Given the description of an element on the screen output the (x, y) to click on. 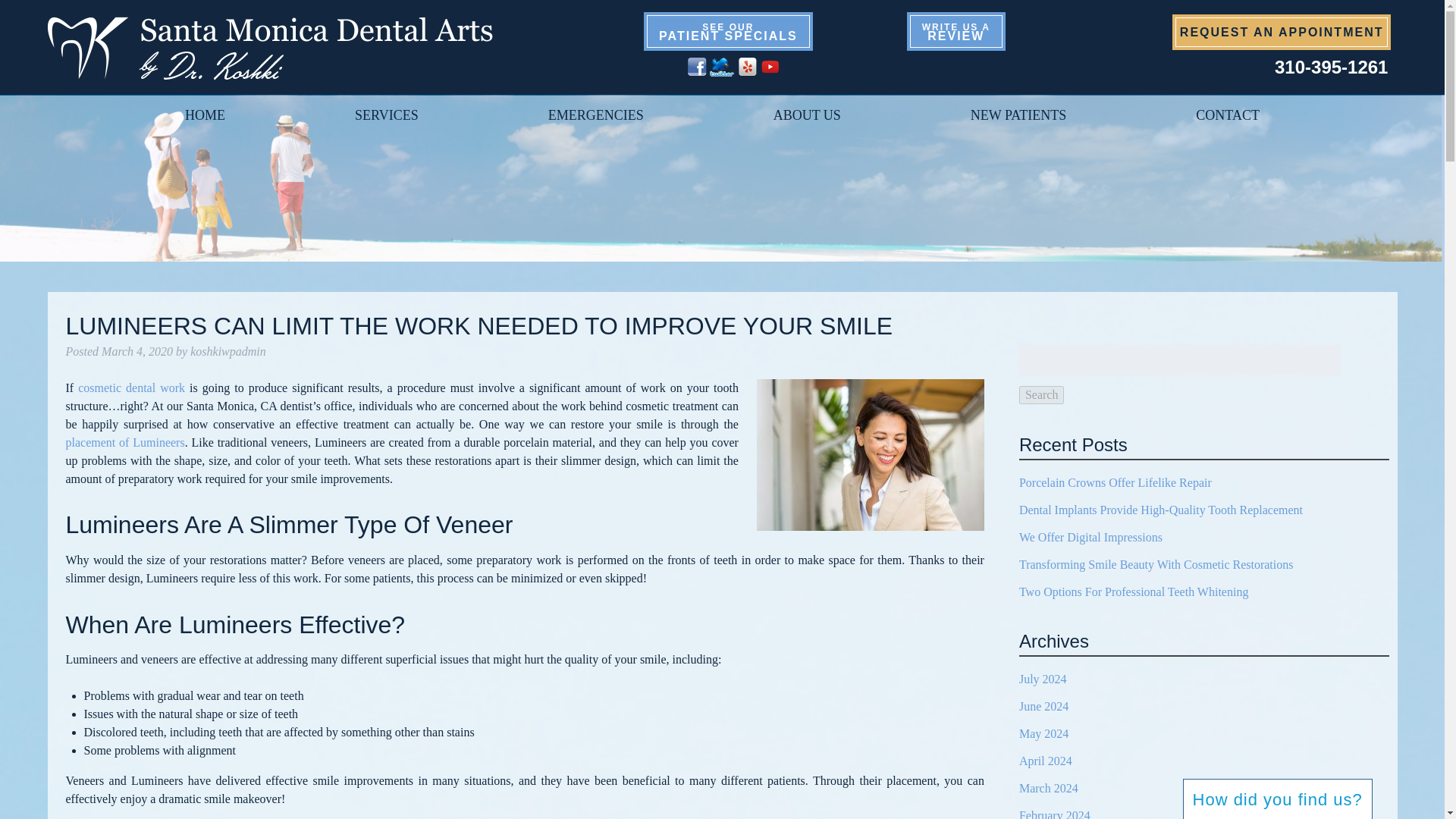
310-395-1261 (956, 31)
CONTACT (1331, 66)
SERVICES (1227, 115)
HOME (387, 115)
REQUEST AN APPOINTMENT (727, 31)
EMERGENCIES (204, 115)
ABOUT US (1281, 31)
NEW PATIENTS (595, 115)
